Given the description of an element on the screen output the (x, y) to click on. 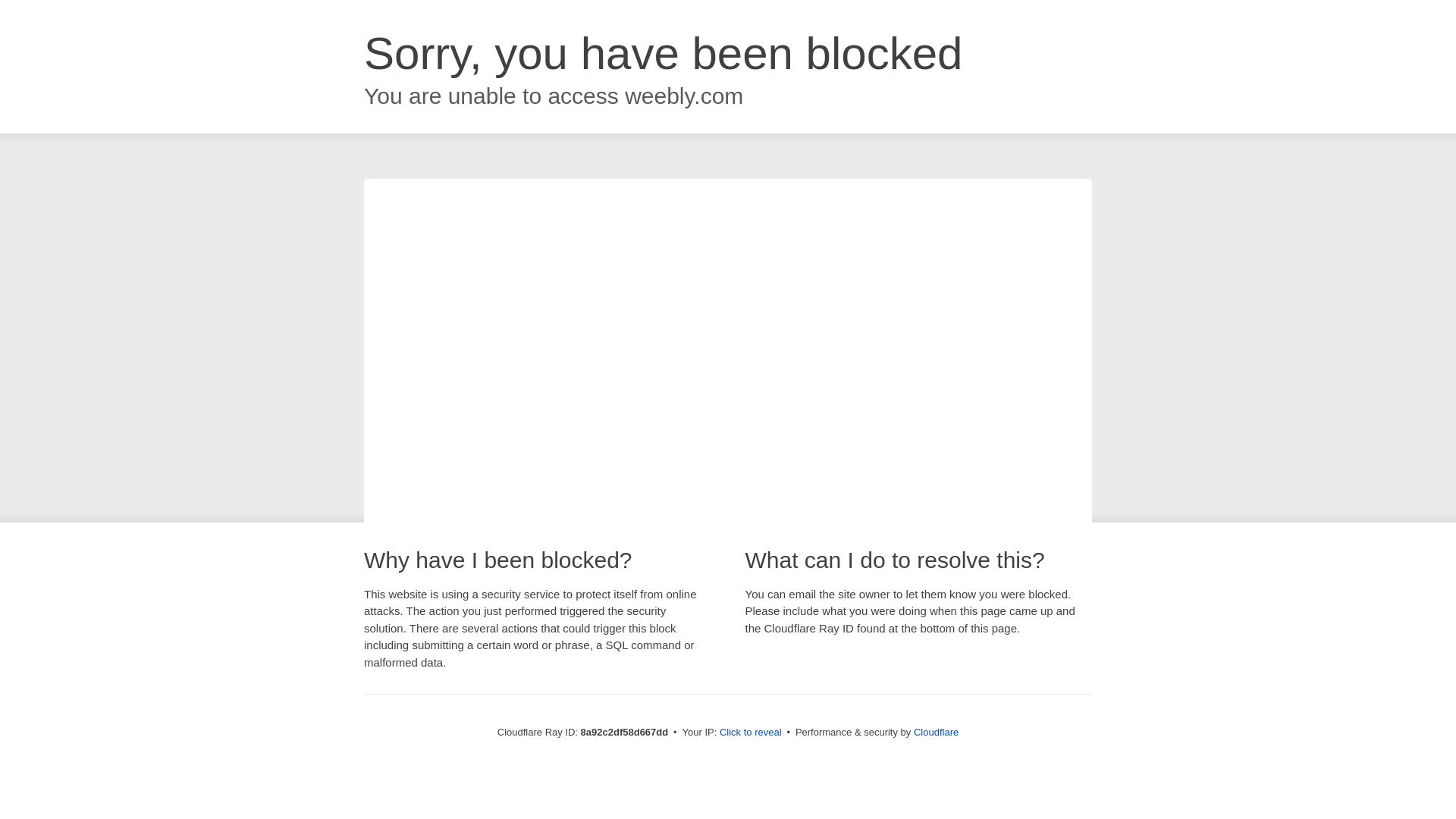
Click to reveal (750, 732)
Cloudflare (936, 731)
